Given the description of an element on the screen output the (x, y) to click on. 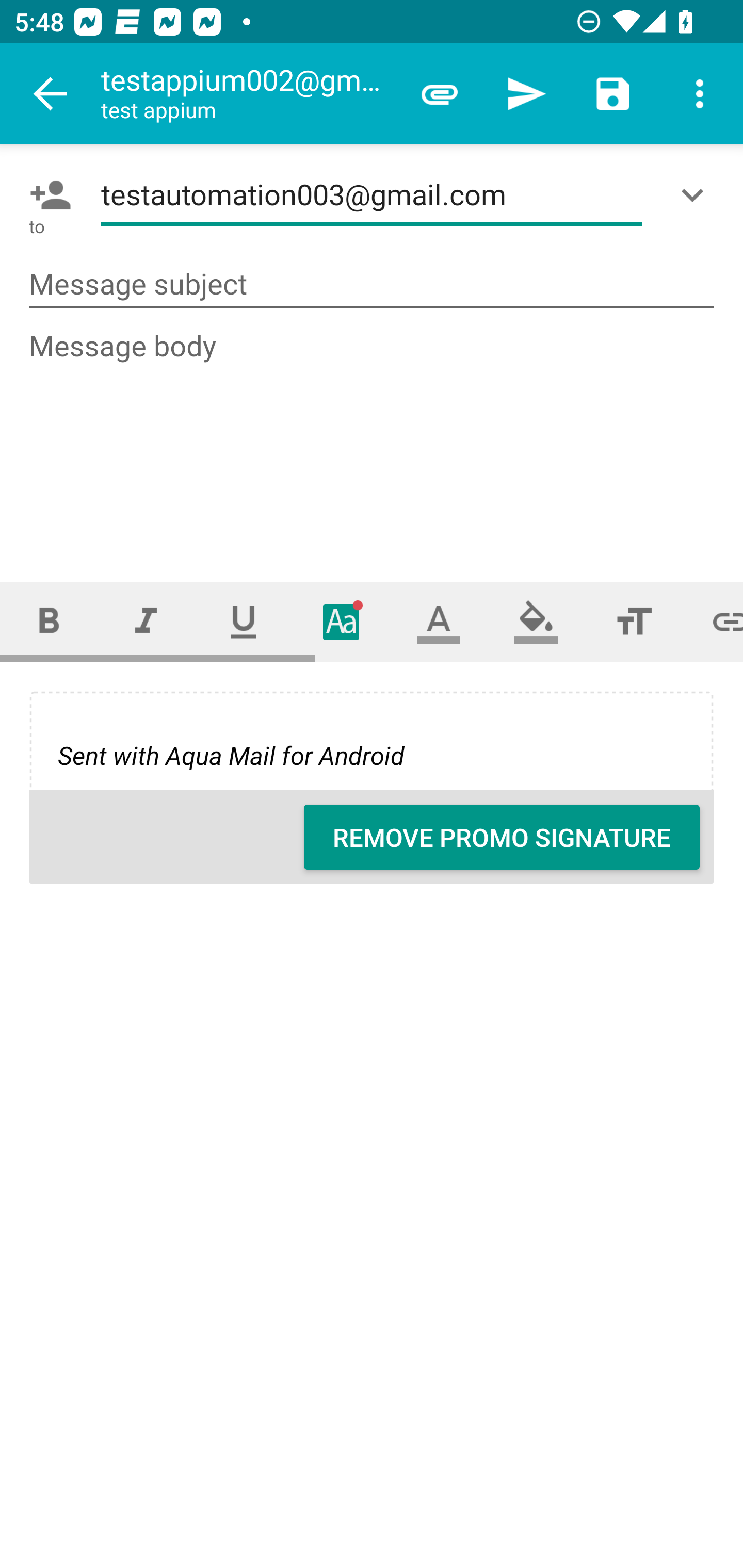
Navigate up (50, 93)
testappium002@gmail.com test appium (248, 93)
Attach (439, 93)
Send (525, 93)
Save (612, 93)
More options (699, 93)
Pick contact: To (46, 195)
Show/Add CC/BCC (696, 195)
testautomation003@gmail.com (371, 195)
Message subject (371, 284)
Message body (372, 438)
Bold (48, 621)
Italic (145, 621)
Underline (243, 621)
Typeface (font) (341, 621)
Text color (438, 621)
Fill color (536, 621)
Font size (633, 621)
Set link (712, 621)
REMOVE PROMO SIGNATURE (501, 837)
